Given the description of an element on the screen output the (x, y) to click on. 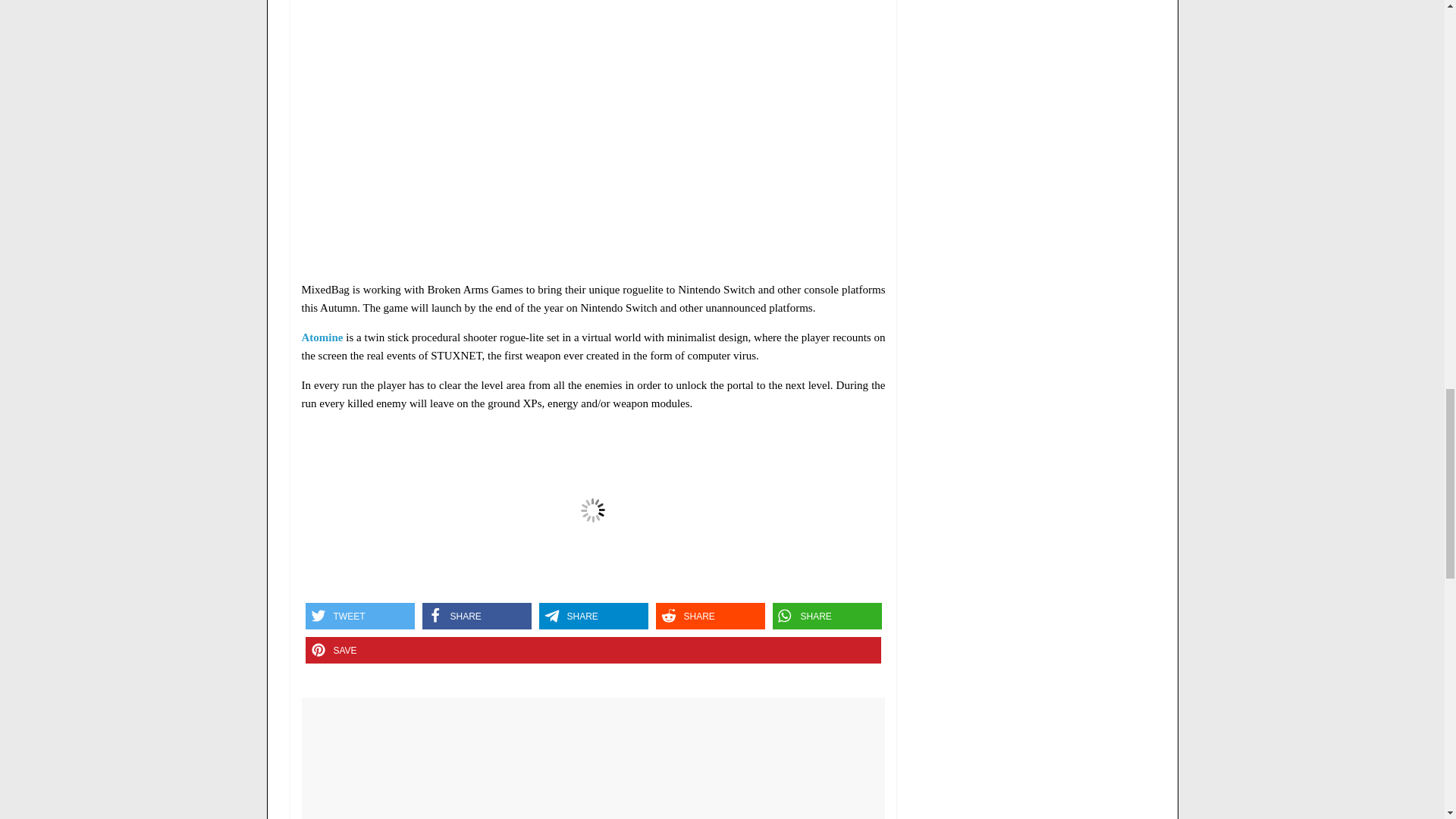
Share on Reddit (709, 615)
Share on Whatsapp (825, 615)
Pin it on Pinterest (592, 650)
Share on Twitter (358, 615)
Share on Facebook (476, 615)
Share on Telegram (592, 615)
